Given the description of an element on the screen output the (x, y) to click on. 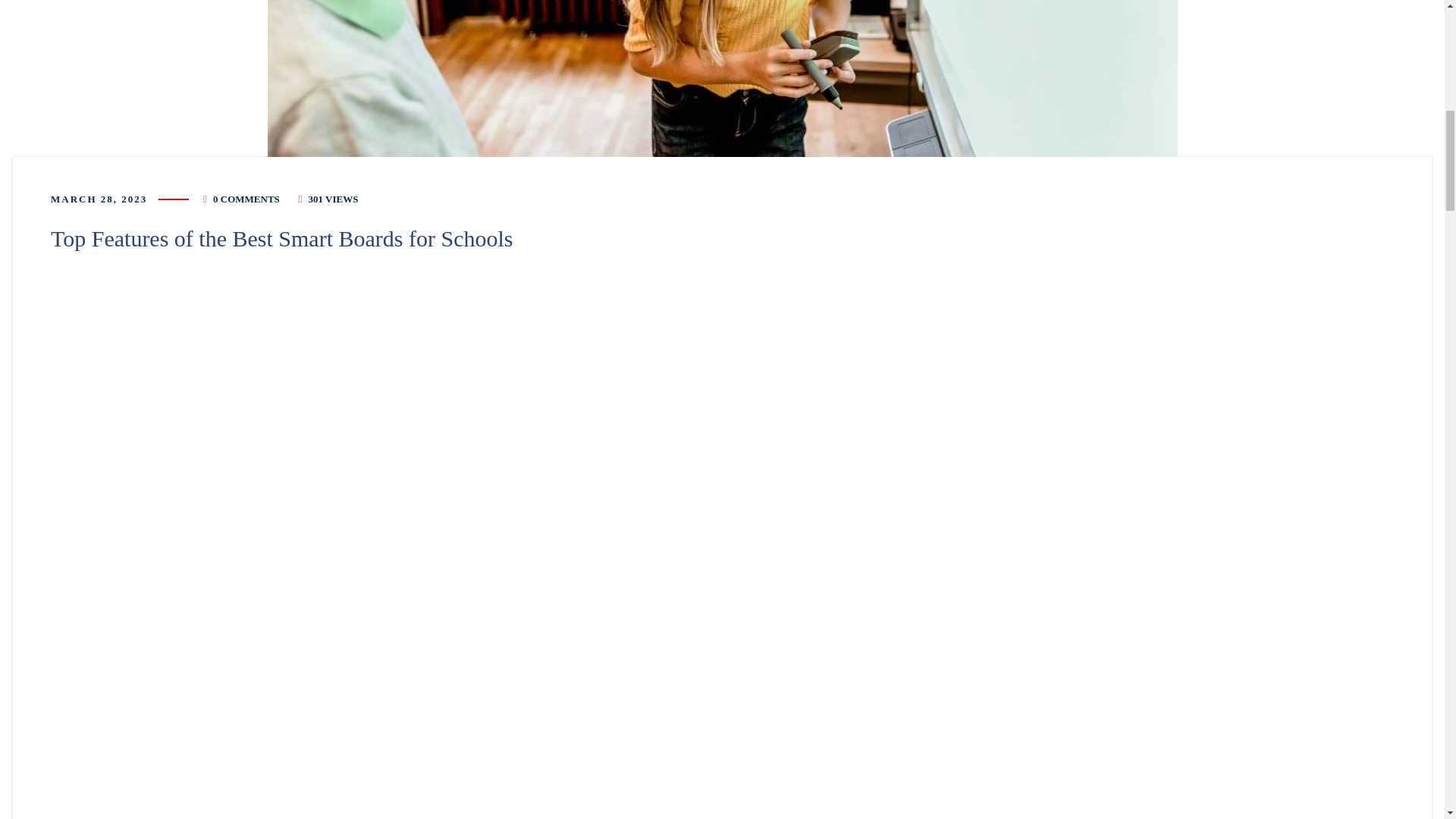
0 COMMENTS (245, 198)
